Given the description of an element on the screen output the (x, y) to click on. 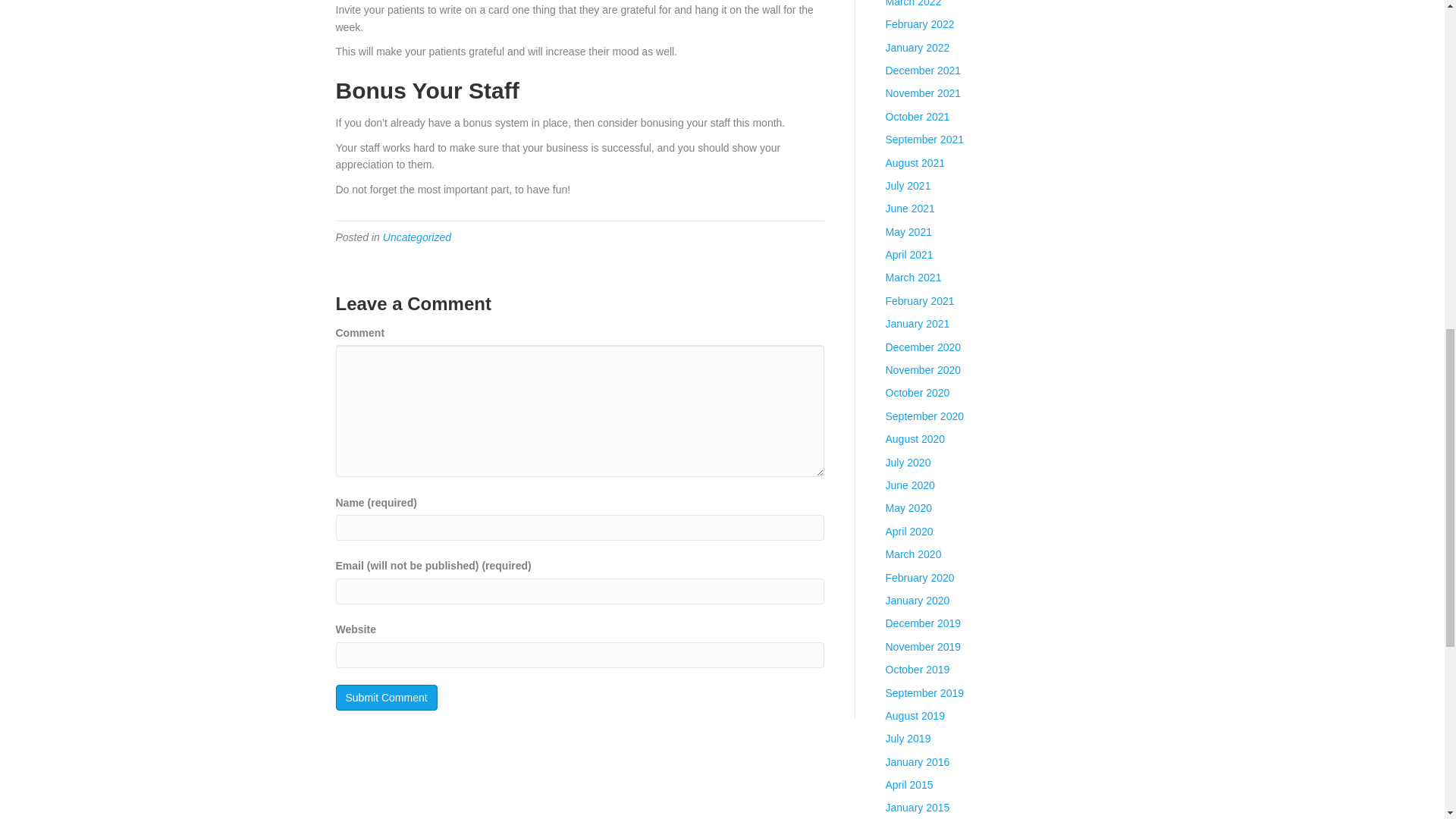
Submit Comment (385, 697)
Submit Comment (385, 697)
Uncategorized (416, 236)
